Given the description of an element on the screen output the (x, y) to click on. 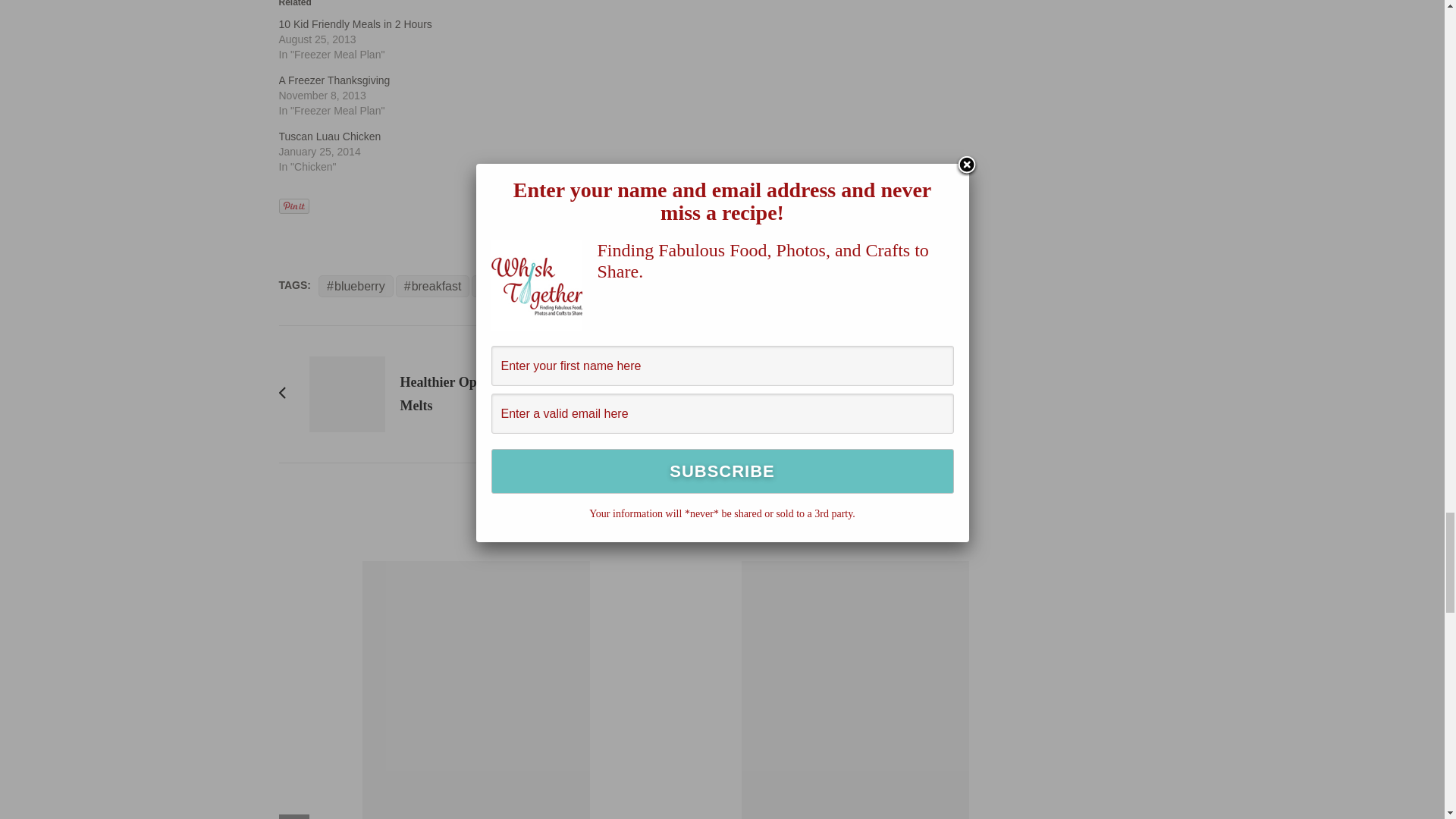
Tuscan Luau Chicken (330, 136)
10 Kid Friendly Meals in 2 Hours (355, 24)
A Freezer Thanksgiving (334, 80)
Pin It (293, 206)
